Given the description of an element on the screen output the (x, y) to click on. 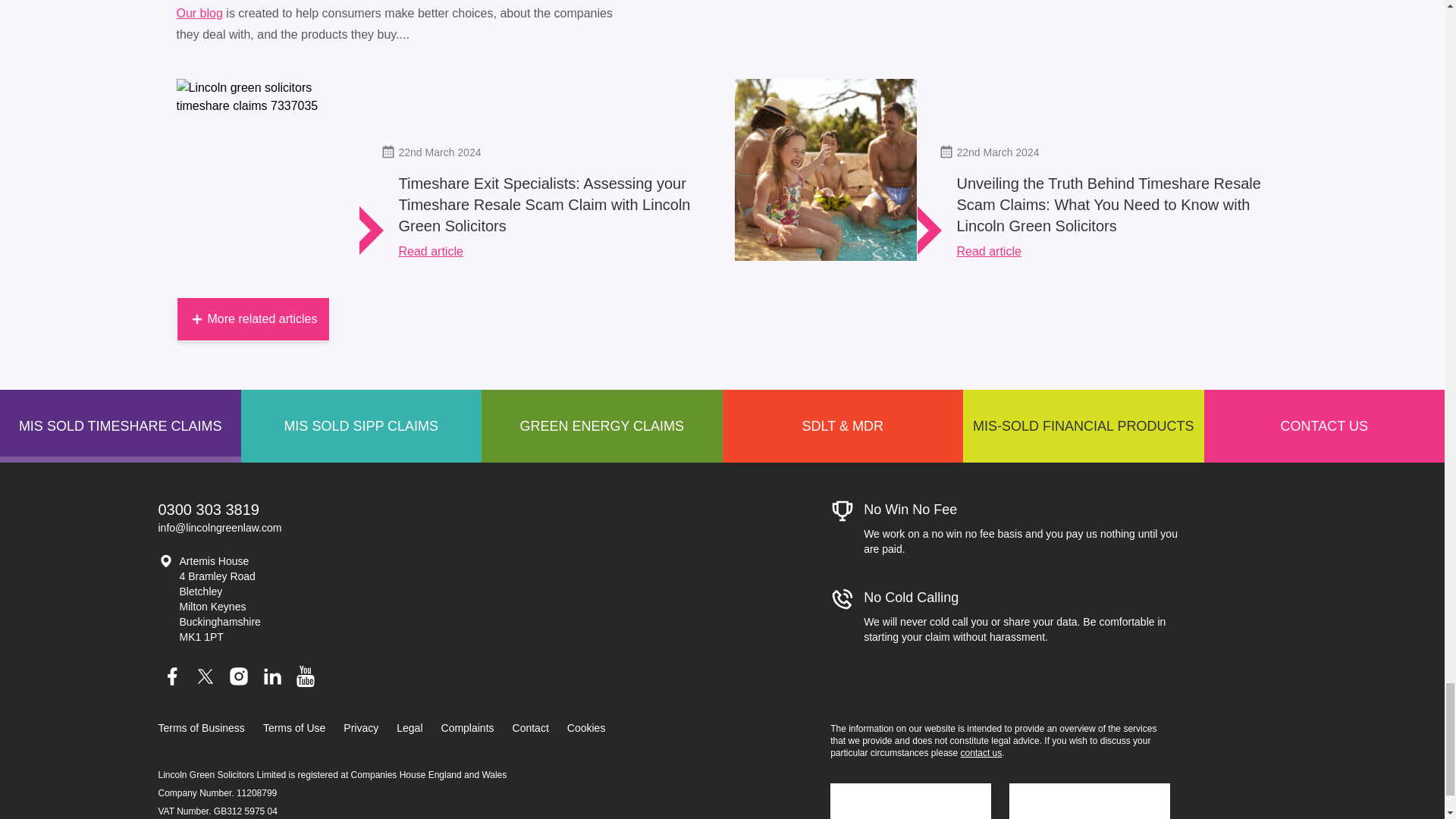
X (204, 676)
Facebook (170, 676)
Instagram (237, 676)
